Given the description of an element on the screen output the (x, y) to click on. 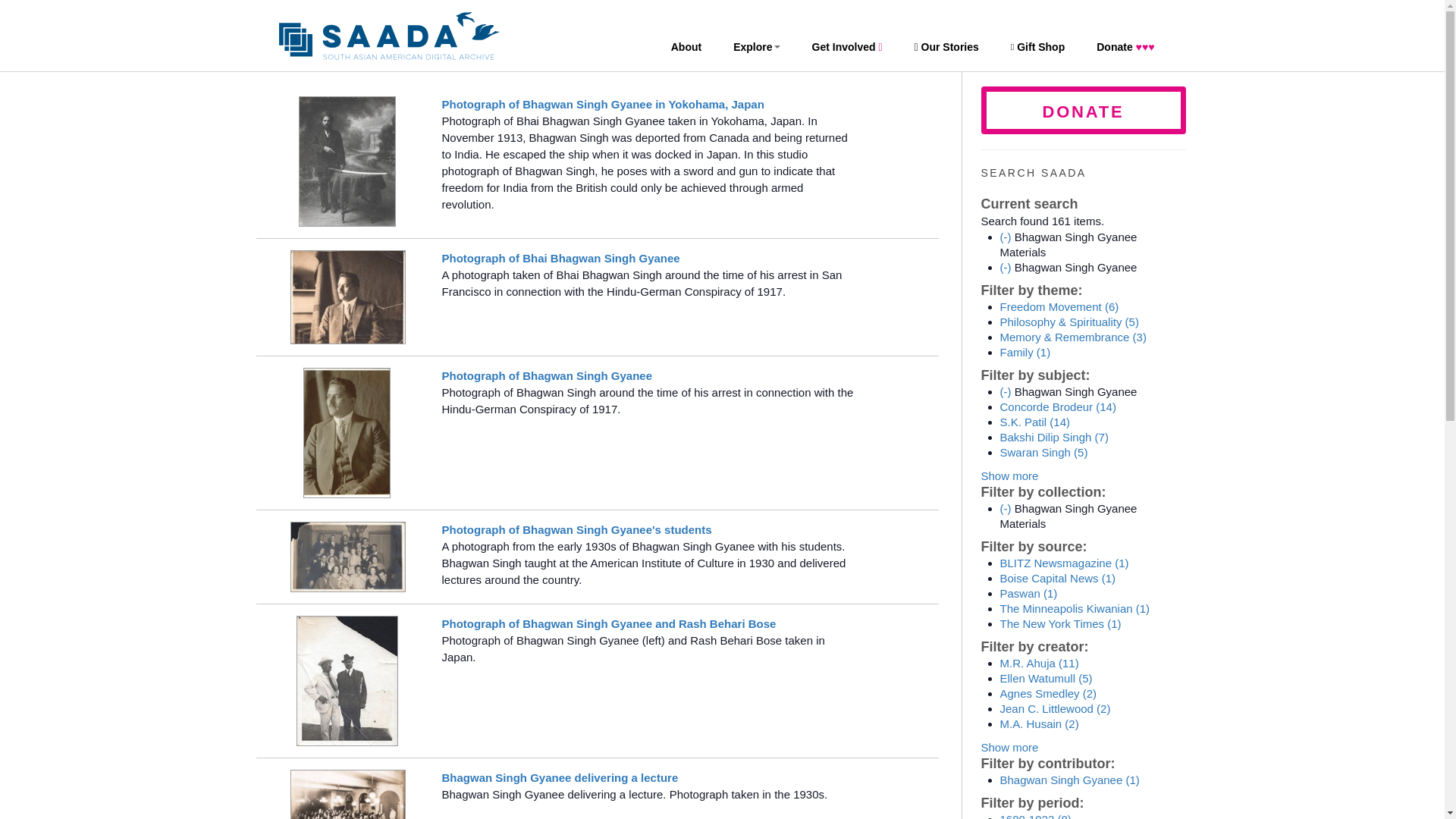
Get Involved (846, 46)
Photograph of Bhagwan Singh Gyanee and Rash Behari Bose (608, 623)
Our Stories (946, 46)
Gift Shop (1036, 46)
Photograph of Bhagwan Singh Gyanee (546, 375)
Explore (756, 46)
Photograph of Bhai Bhagwan Singh Gyanee (560, 257)
Photograph of Bhagwan Singh Gyanee's students (576, 529)
Photograph of Bhagwan Singh Gyanee in Yokohama, Japan (601, 103)
About (686, 46)
Bhagwan Singh Gyanee delivering a lecture (559, 777)
